Given the description of an element on the screen output the (x, y) to click on. 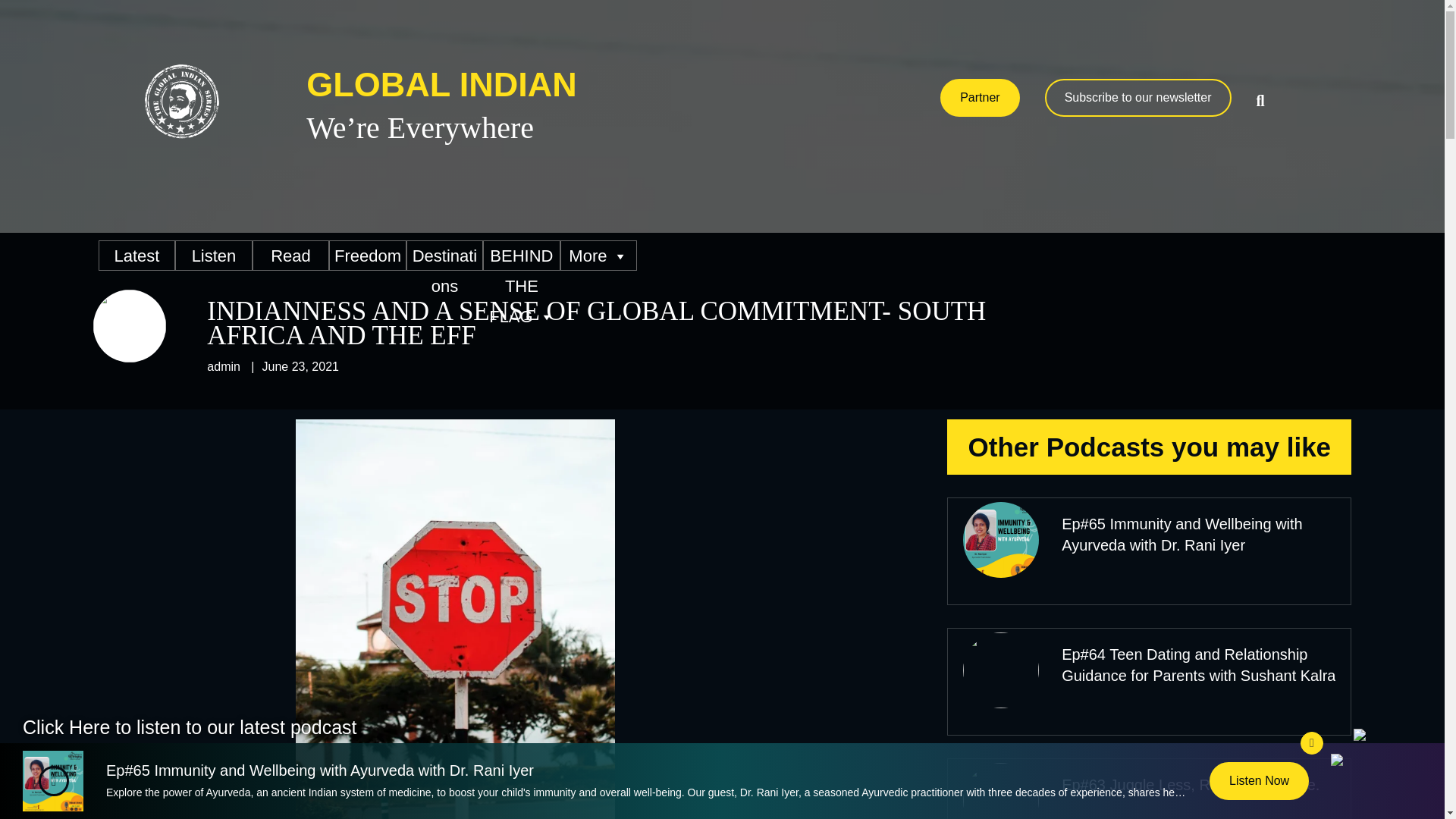
Destinations (444, 255)
Latest (136, 255)
Partner (979, 97)
Read (290, 255)
Freedom (367, 255)
Subscribe to our newsletter (1138, 97)
BEHIND THE FLAG (521, 255)
Listen (212, 255)
More (598, 255)
